Given the description of an element on the screen output the (x, y) to click on. 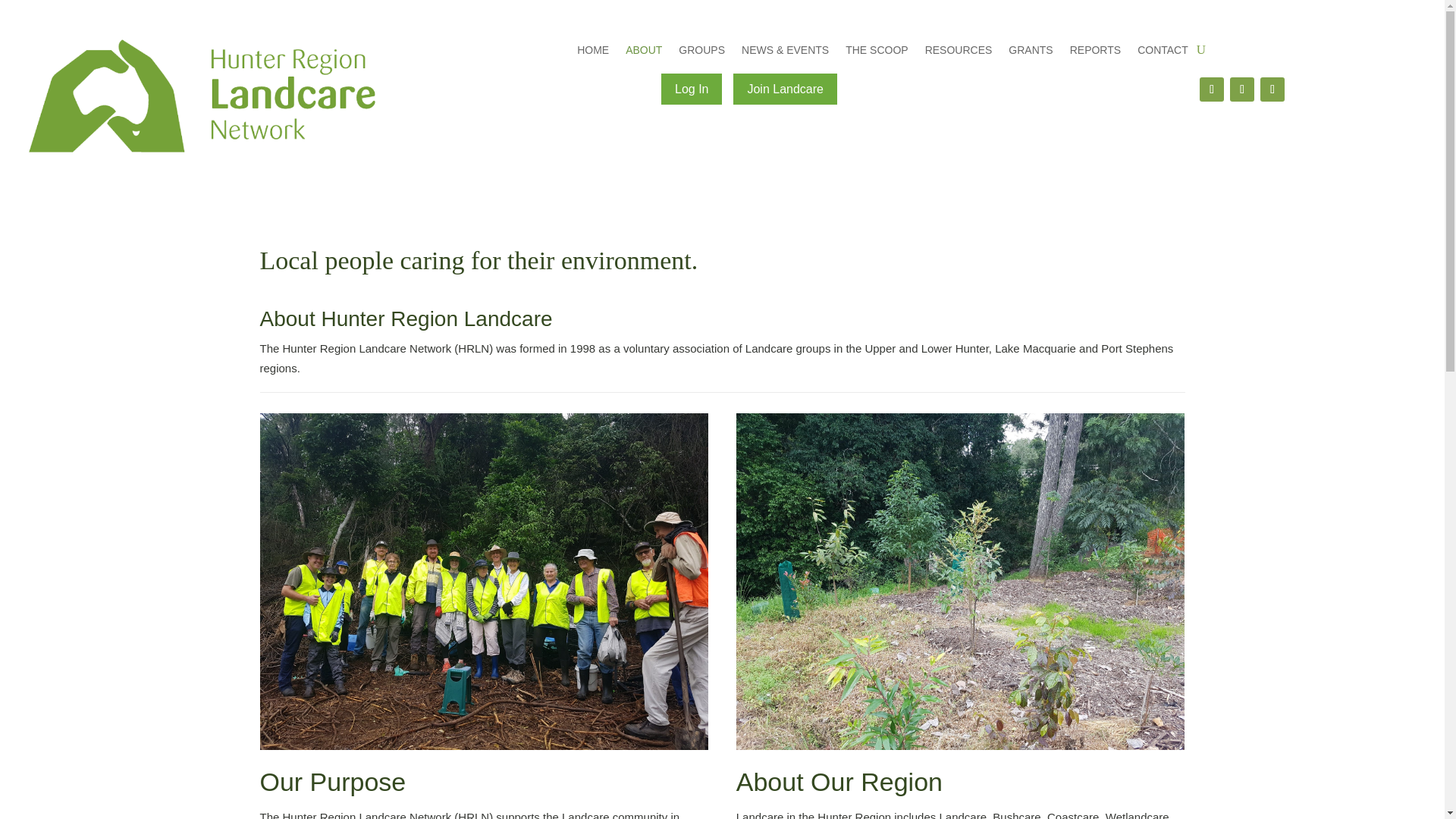
RESOURCES (958, 53)
GROUPS (701, 53)
Follow on Youtube (1241, 88)
HOME (592, 53)
CONTACT (1162, 53)
Hunter Region Landcare Network logo (202, 95)
Join Landcare (785, 88)
THE SCOOP (876, 53)
GRANTS (1030, 53)
Follow on LinkedIn (1272, 88)
